Given the description of an element on the screen output the (x, y) to click on. 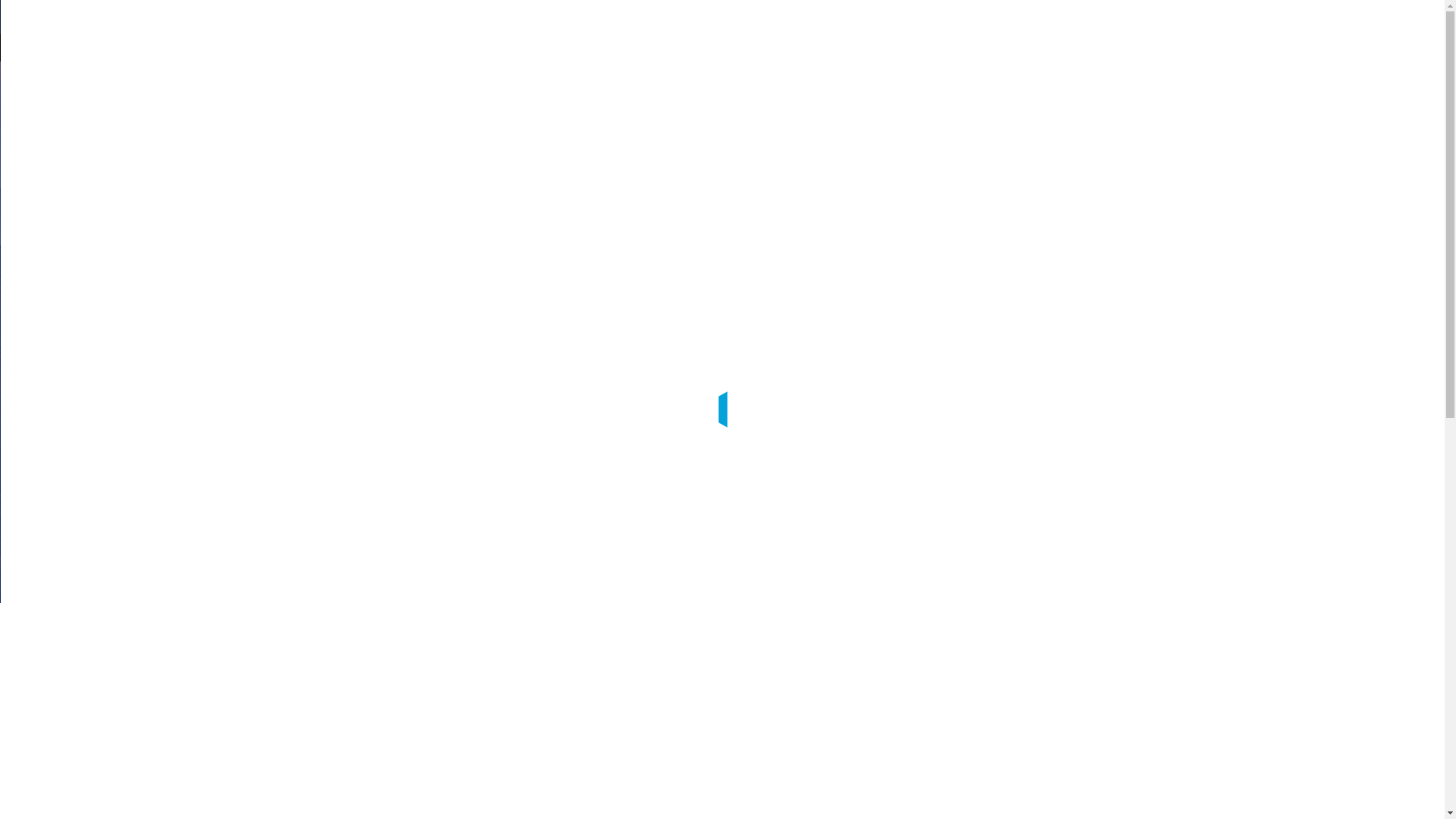
Trade Element type: text (1067, 95)
Registration Element type: text (929, 95)
Committee Element type: text (846, 95)
Contact Element type: text (1274, 95)
Next Element type: text (1371, 331)
Register Now Element type: text (1362, 96)
Venue Element type: text (1122, 95)
Scientific Element type: text (1005, 95)
Accommodation Element type: text (1199, 95)
Home Element type: text (782, 95)
Previous Element type: text (72, 331)
